Given the description of an element on the screen output the (x, y) to click on. 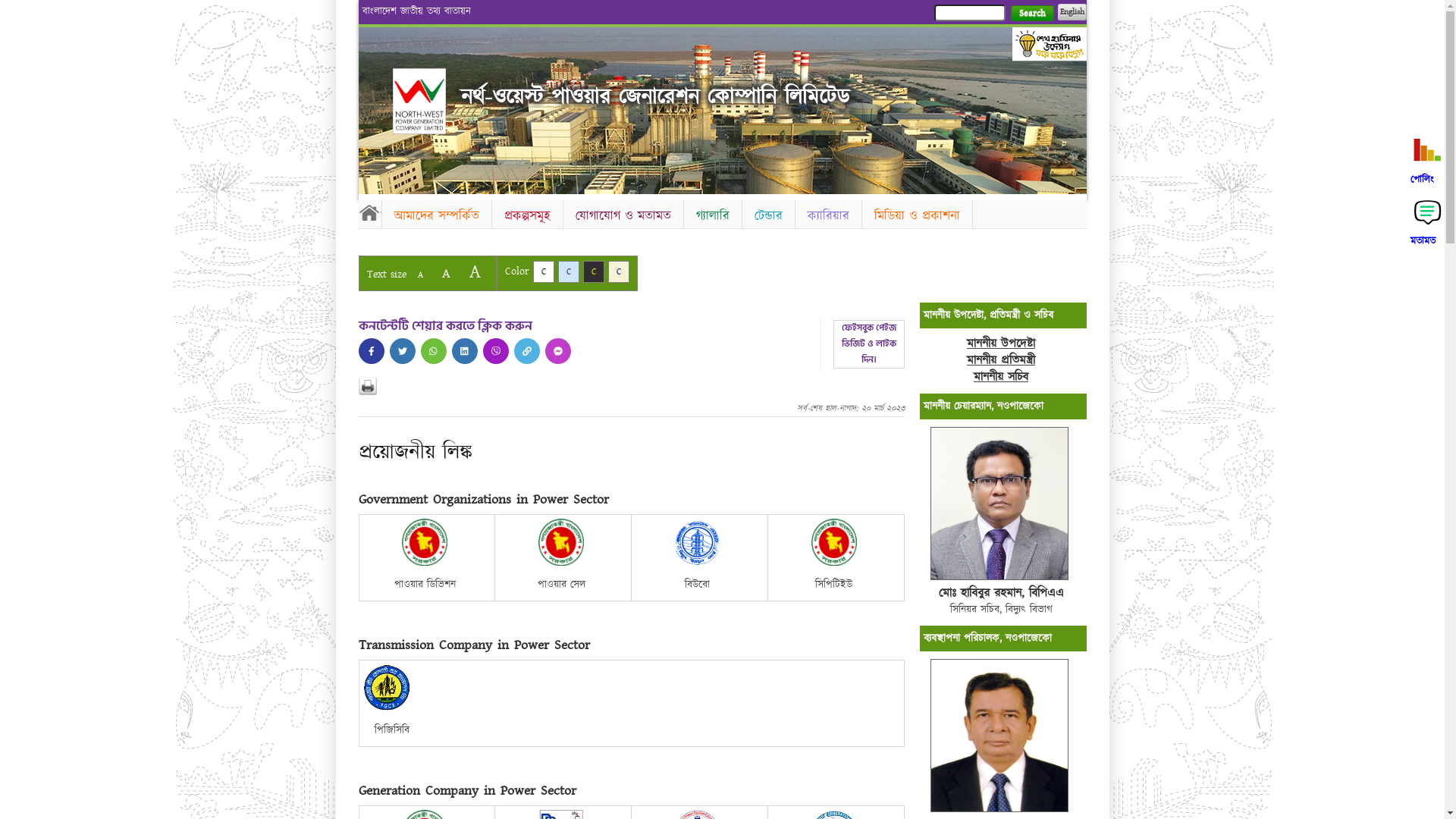
A Element type: text (419, 274)
A Element type: text (445, 273)
Search Element type: text (1031, 13)
English Element type: text (1071, 11)
C Element type: text (618, 271)
C Element type: text (592, 271)
C Element type: text (542, 271)
A Element type: text (474, 271)
Home Element type: hover (418, 101)
Home Element type: hover (368, 211)
C Element type: text (568, 271)
